Given the description of an element on the screen output the (x, y) to click on. 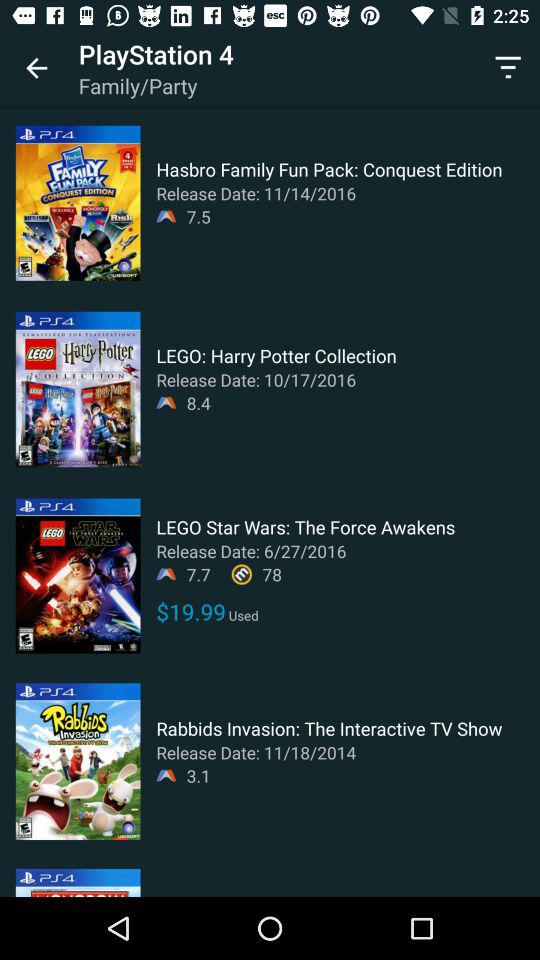
choose app next to playstation 4 icon (36, 68)
